Given the description of an element on the screen output the (x, y) to click on. 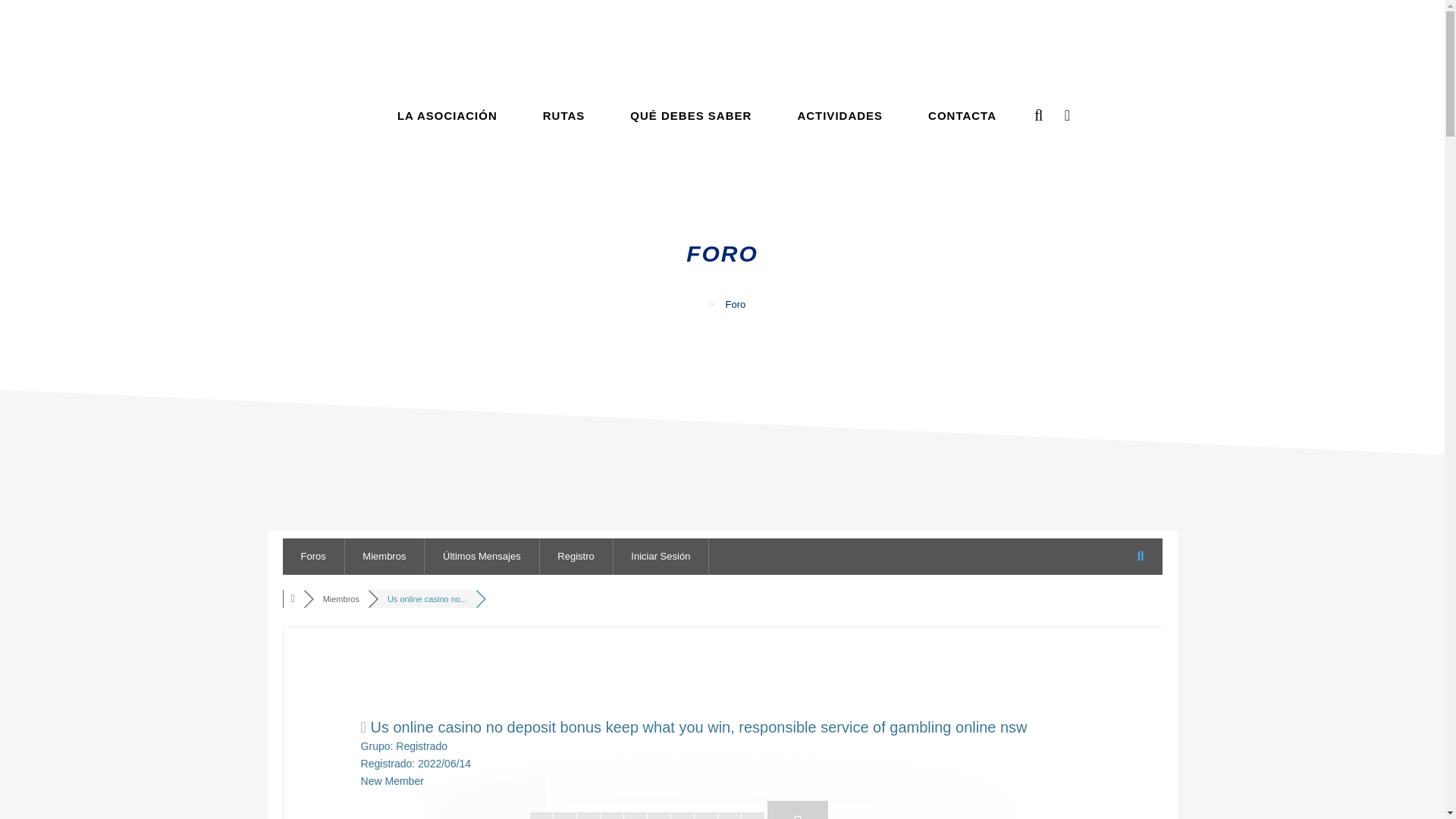
Foros (293, 598)
Nivel del Usuario (647, 815)
Emblema del Nivel (797, 809)
Rating Title (392, 780)
